Given the description of an element on the screen output the (x, y) to click on. 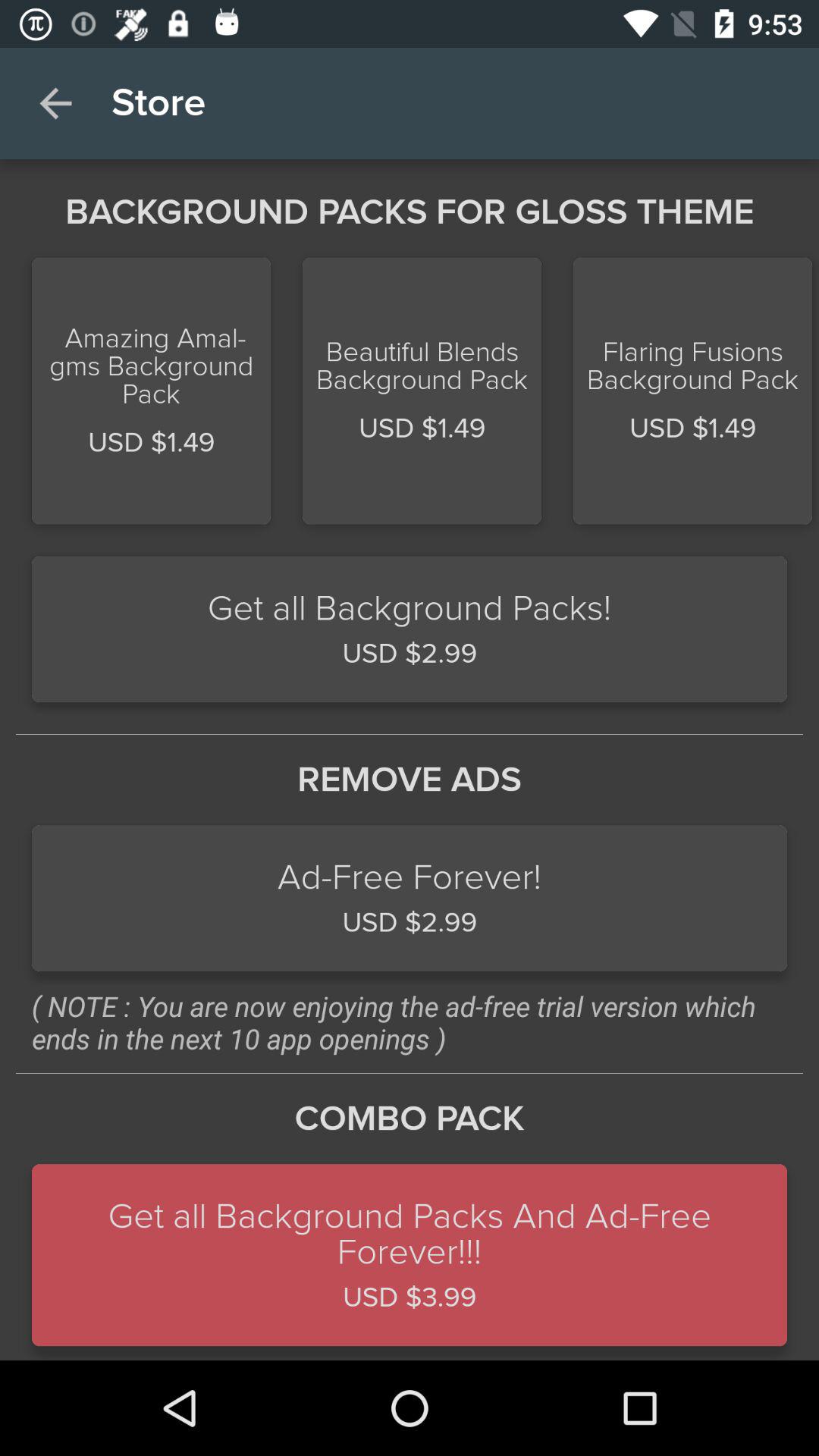
tap the icon above background packs for (55, 103)
